Given the description of an element on the screen output the (x, y) to click on. 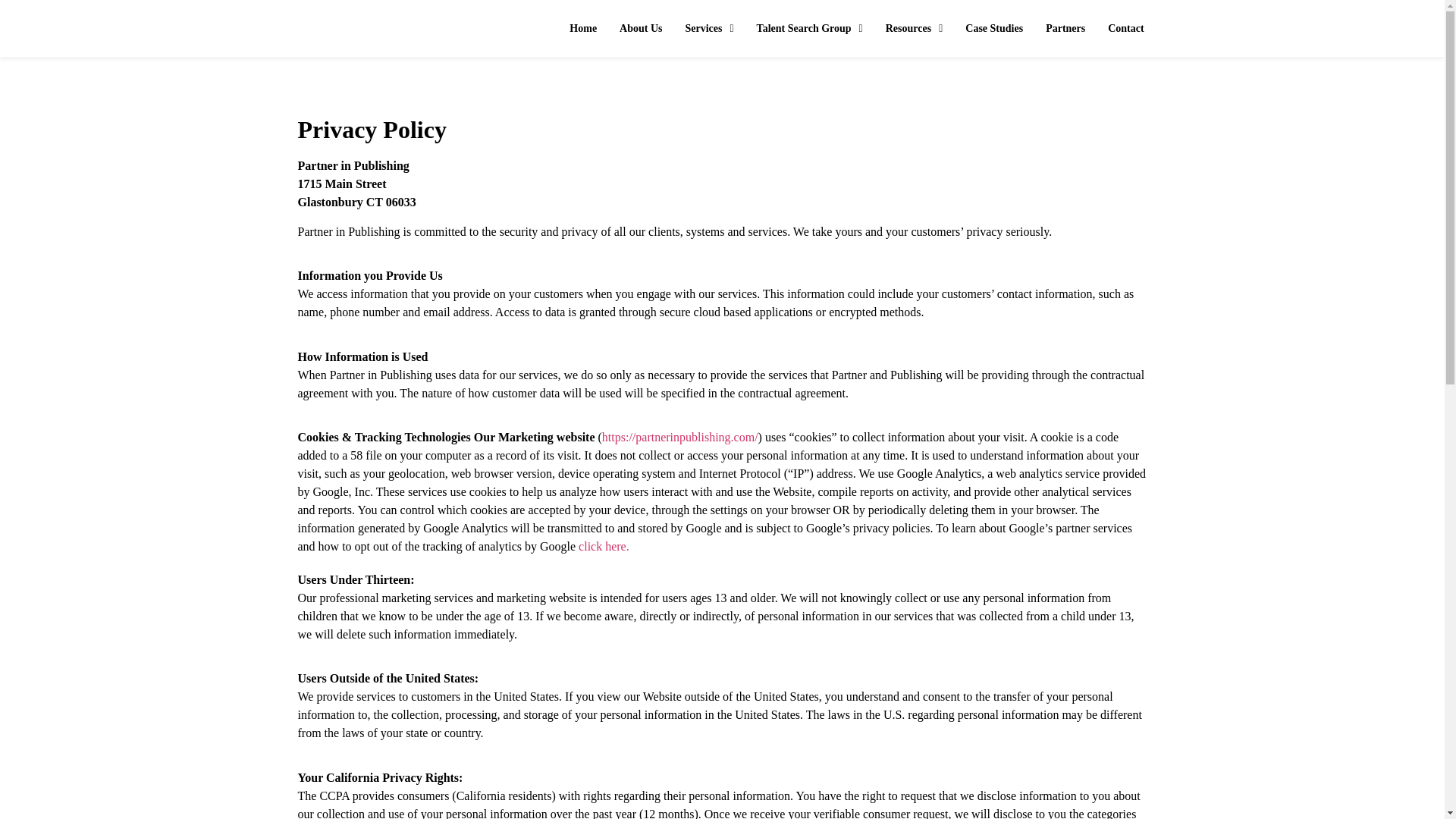
Talent Search Group (810, 28)
About Us (641, 28)
Case Studies (994, 28)
Resources (914, 28)
Services (709, 28)
Contact (1125, 28)
Partners (1064, 28)
